Given the description of an element on the screen output the (x, y) to click on. 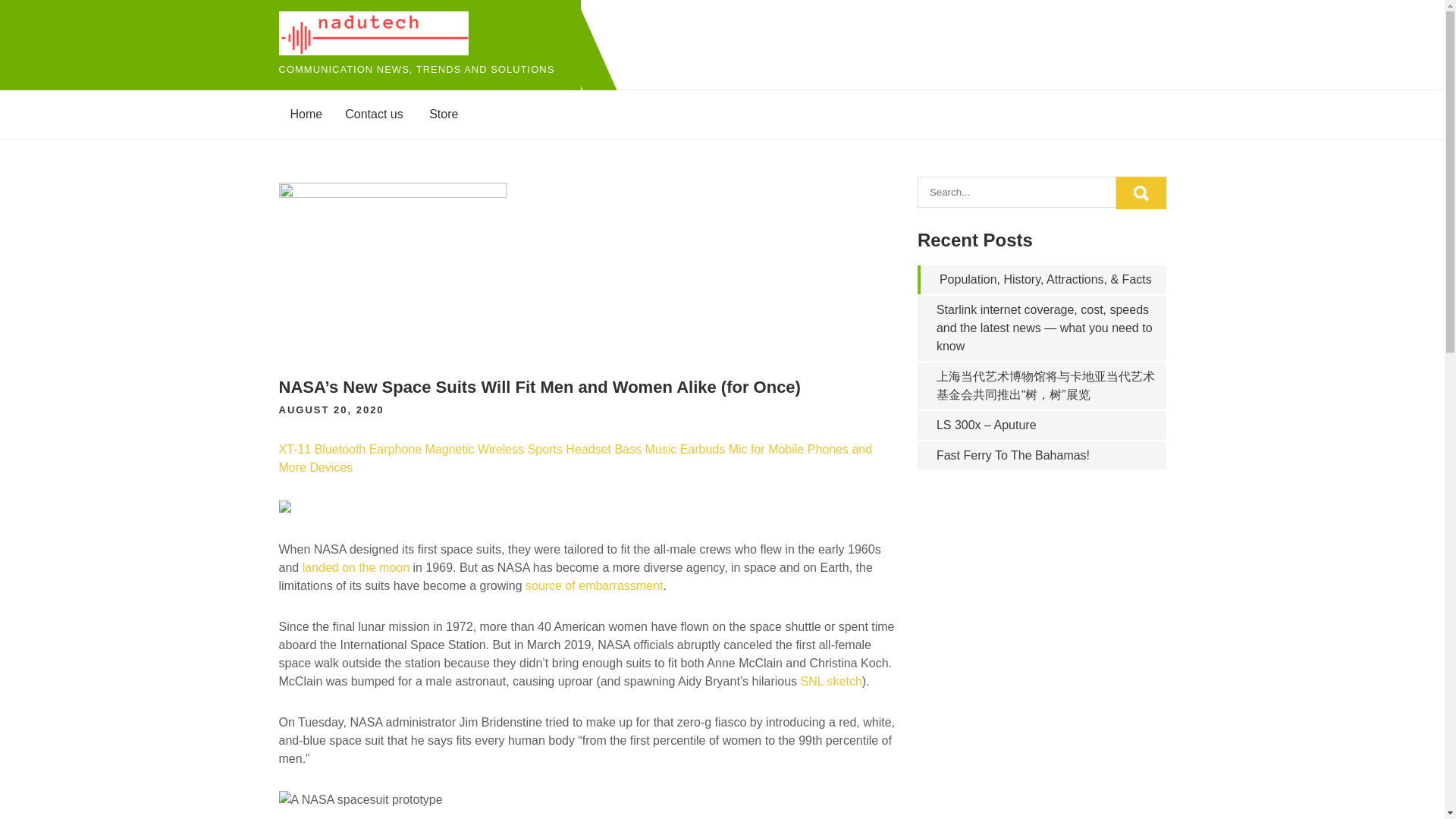
SNL sketch (830, 680)
source of embarrassment (593, 585)
Search (1141, 192)
landed on the moon (355, 567)
Home (306, 114)
Contact us (373, 114)
Search (1141, 192)
Search (1141, 192)
Store (442, 114)
